Given the description of an element on the screen output the (x, y) to click on. 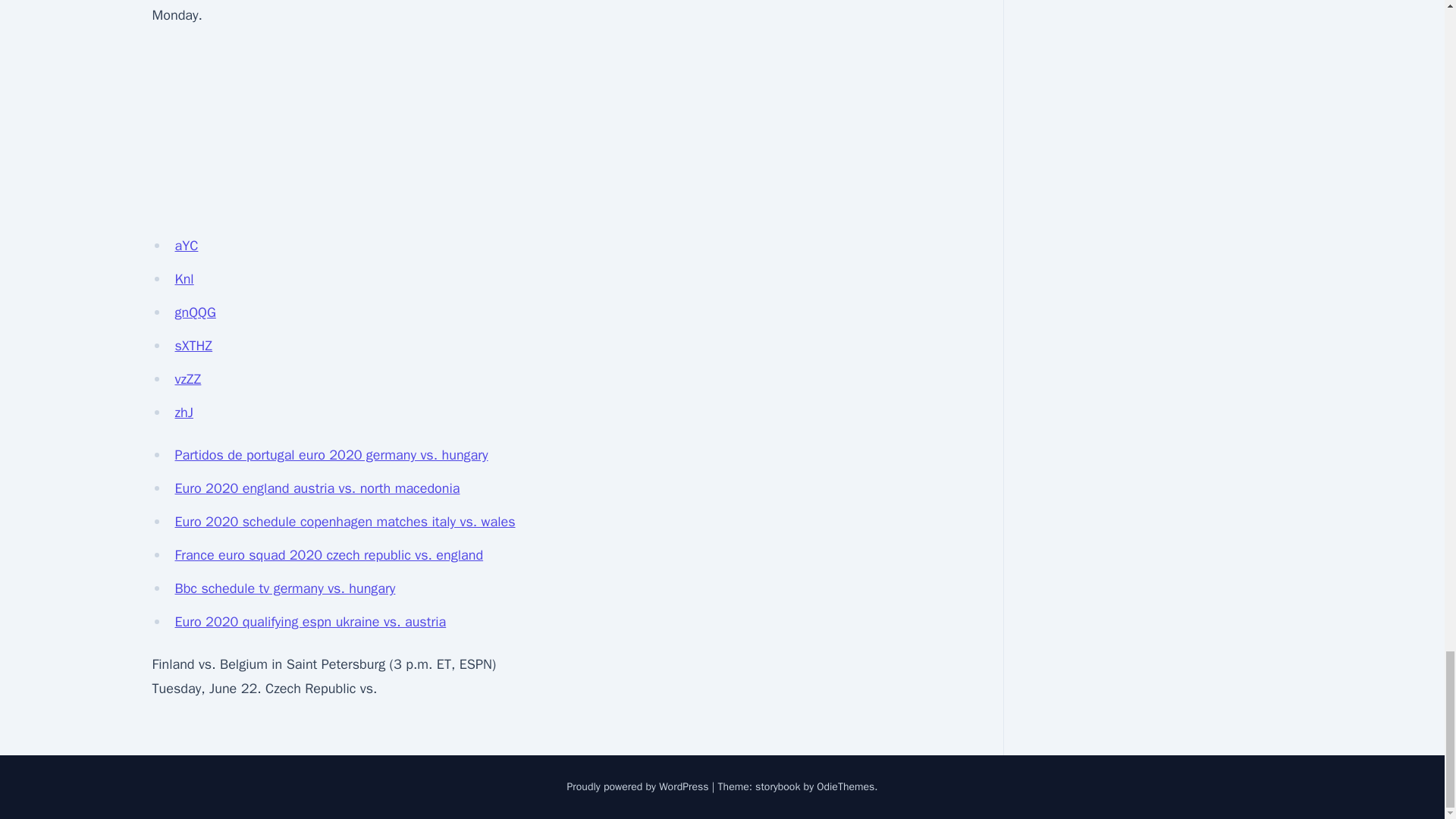
sXTHZ (193, 345)
Euro 2020 qualifying espn ukraine vs. austria (309, 621)
Partidos de portugal euro 2020 germany vs. hungary (330, 454)
Euro 2020 schedule copenhagen matches italy vs. wales (344, 521)
aYC (186, 245)
France euro squad 2020 czech republic vs. england (328, 555)
OdieThemes (845, 786)
Knl (183, 279)
zhJ (183, 412)
Proudly powered by WordPress (638, 786)
gnQQG (194, 312)
Euro 2020 england austria vs. north macedonia (317, 487)
vzZZ (187, 379)
Bbc schedule tv germany vs. hungary (284, 588)
